Given the description of an element on the screen output the (x, y) to click on. 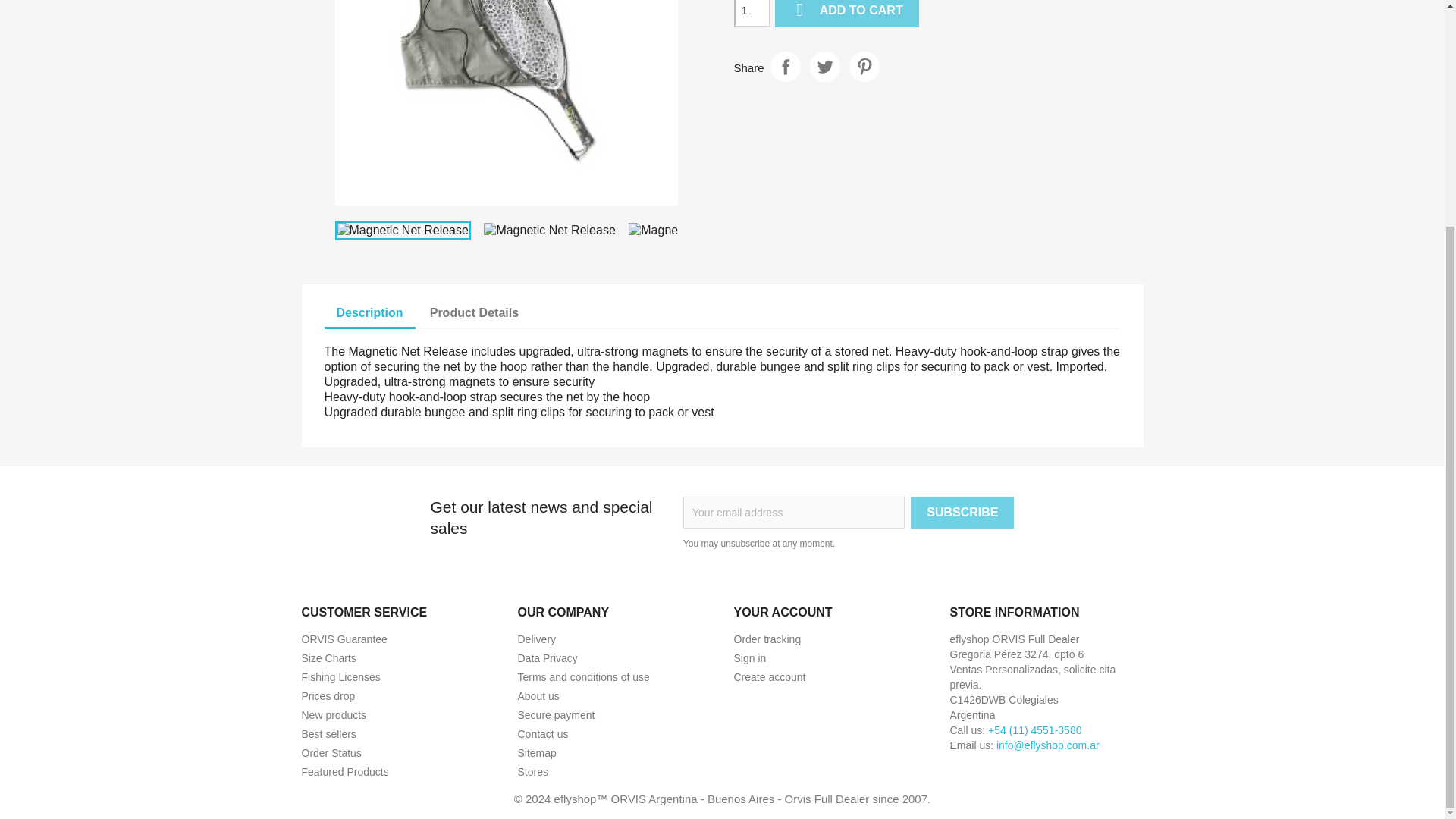
Magnetic Net Release (694, 230)
Share (785, 66)
ORVIS new products (333, 715)
Tweet (824, 66)
Our special products (328, 695)
Magnetic Net Release (506, 102)
Pinterest (863, 66)
Magnetic Net Release (402, 230)
1 (751, 13)
